Given the description of an element on the screen output the (x, y) to click on. 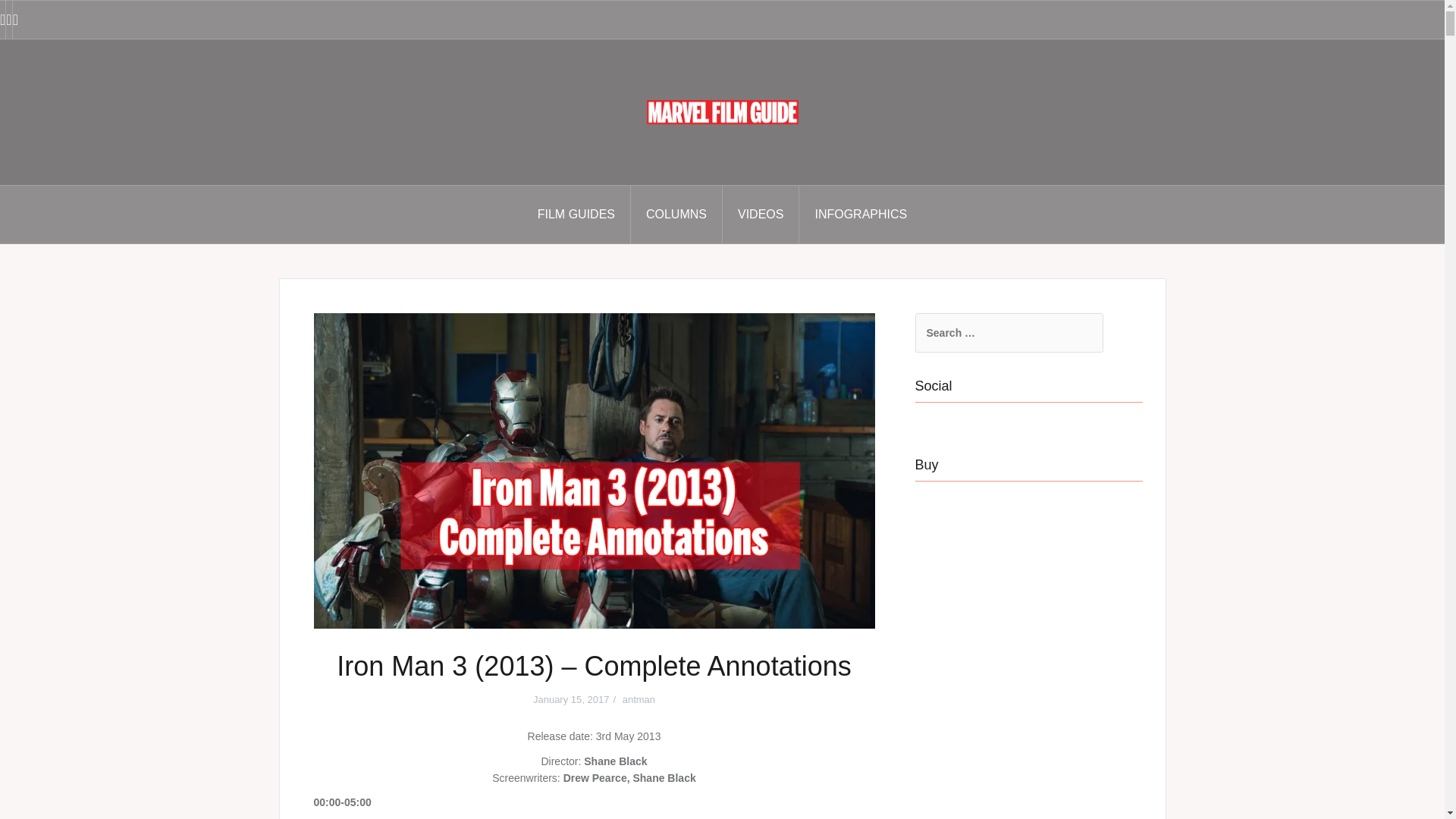
FILM GUIDES (576, 214)
January 15, 2017 (570, 699)
COLUMNS (676, 214)
VIDEOS (760, 214)
The Marvel Film Guide (721, 111)
antman (639, 699)
INFOGRAPHICS (860, 214)
